Given the description of an element on the screen output the (x, y) to click on. 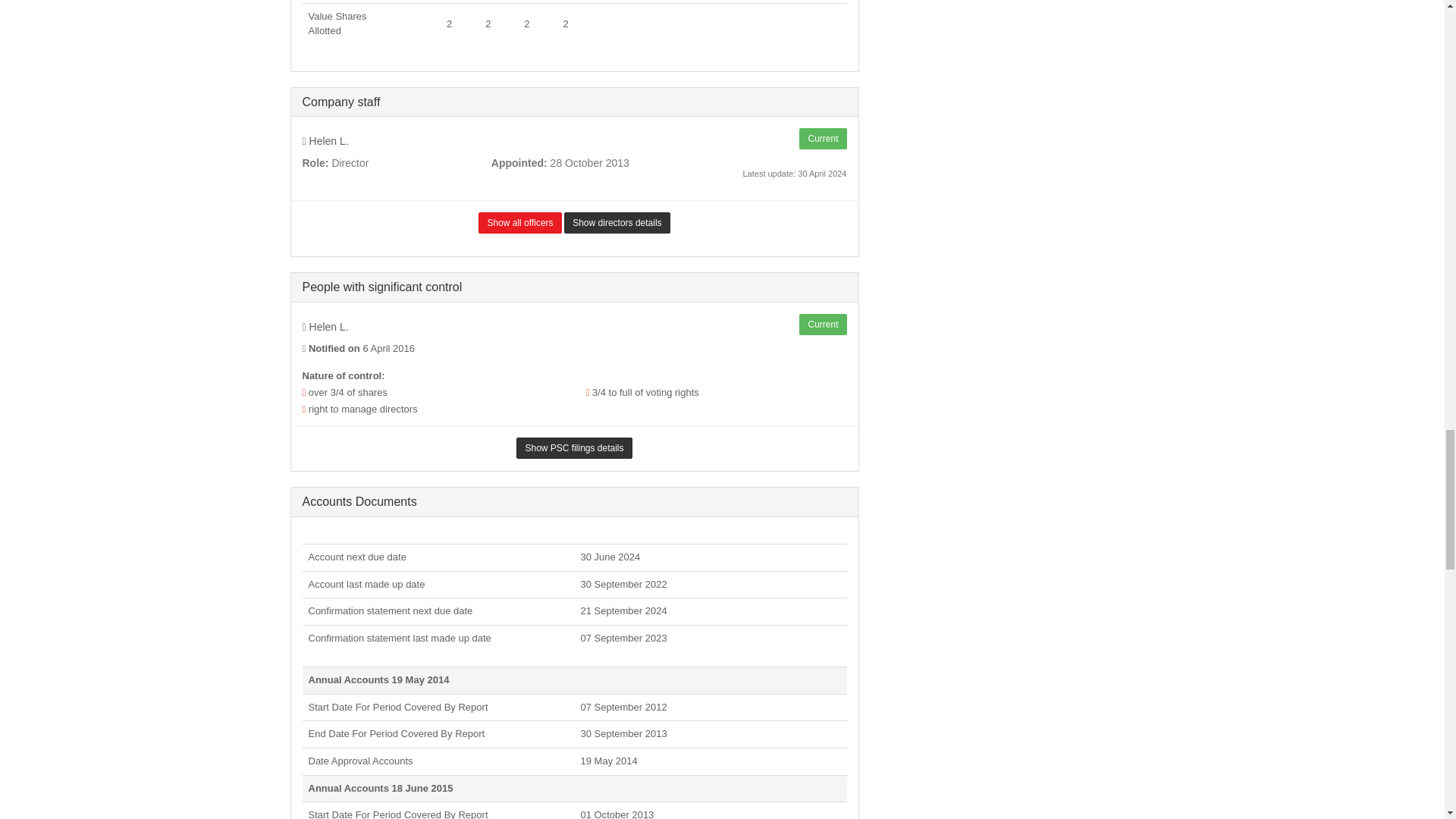
Show PSC filings details (573, 447)
Current (822, 323)
Show directors details (616, 222)
Show all officers (519, 222)
Current (822, 138)
